Given the description of an element on the screen output the (x, y) to click on. 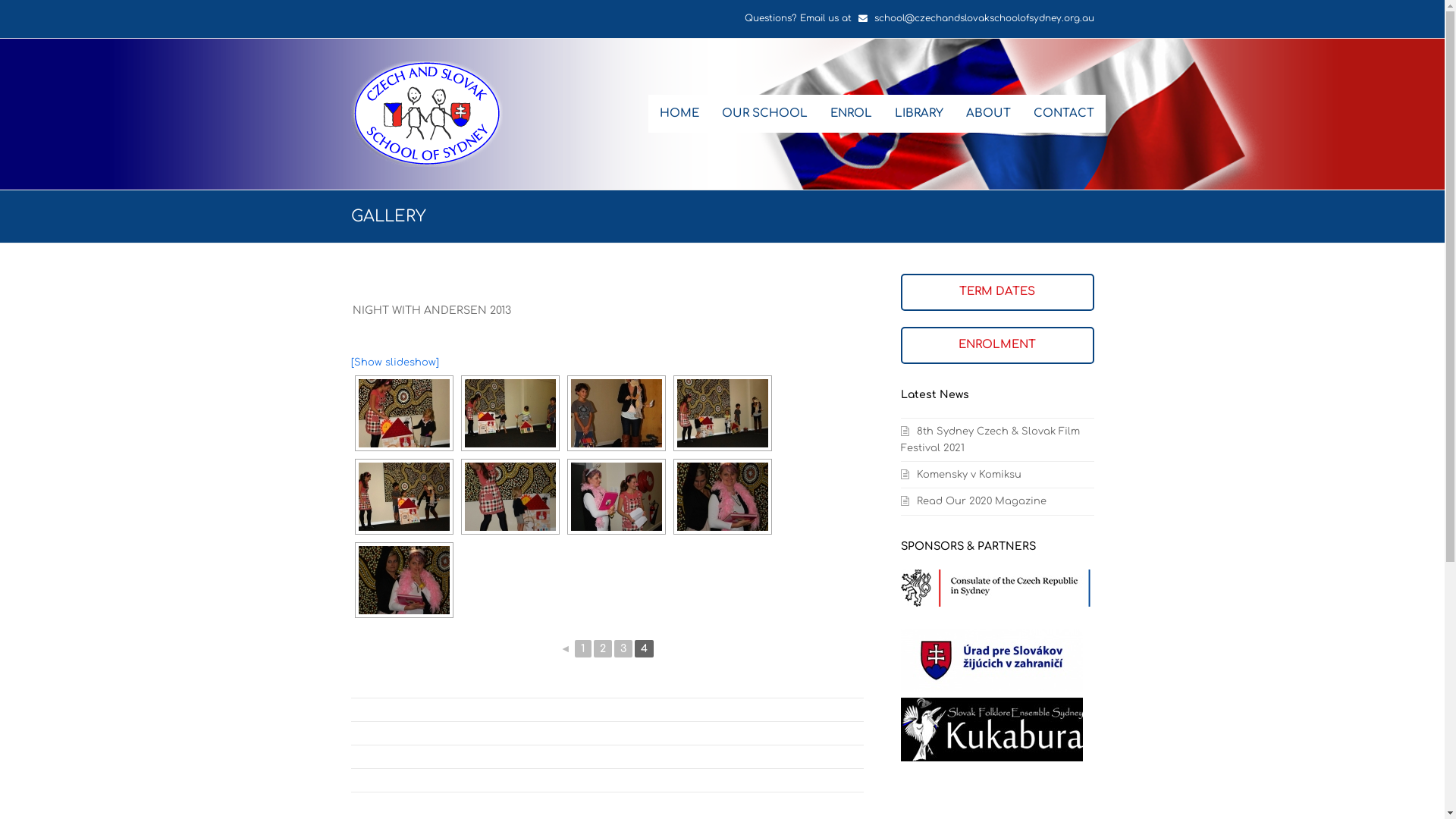
493 Element type: hover (402, 413)
501 Element type: hover (402, 580)
ENROL Element type: text (851, 113)
494 Element type: hover (509, 413)
2 Element type: text (602, 648)
HOME Element type: text (678, 113)
8th Sydney Czech & Slovak Film Festival 2021 Element type: text (989, 439)
499 Element type: hover (615, 496)
CONTACT Element type: text (1063, 113)
LIBRARY Element type: text (917, 113)
Read Our 2020 Magazine Element type: text (973, 500)
school@czechandslovakschoolofsydney.org.au Element type: text (983, 17)
500 Element type: hover (721, 496)
[Show slideshow] Element type: text (394, 362)
496 Element type: hover (721, 413)
1 Element type: text (582, 648)
TERM DATES Element type: text (997, 291)
498 Element type: hover (509, 496)
ENROLMENT Element type: text (996, 344)
OUR SCHOOL Element type: text (763, 113)
495 Element type: hover (615, 413)
497 Element type: hover (402, 496)
ABOUT Element type: text (987, 113)
Komensky v Komiksu Element type: text (960, 474)
3 Element type: text (623, 648)
